Given the description of an element on the screen output the (x, y) to click on. 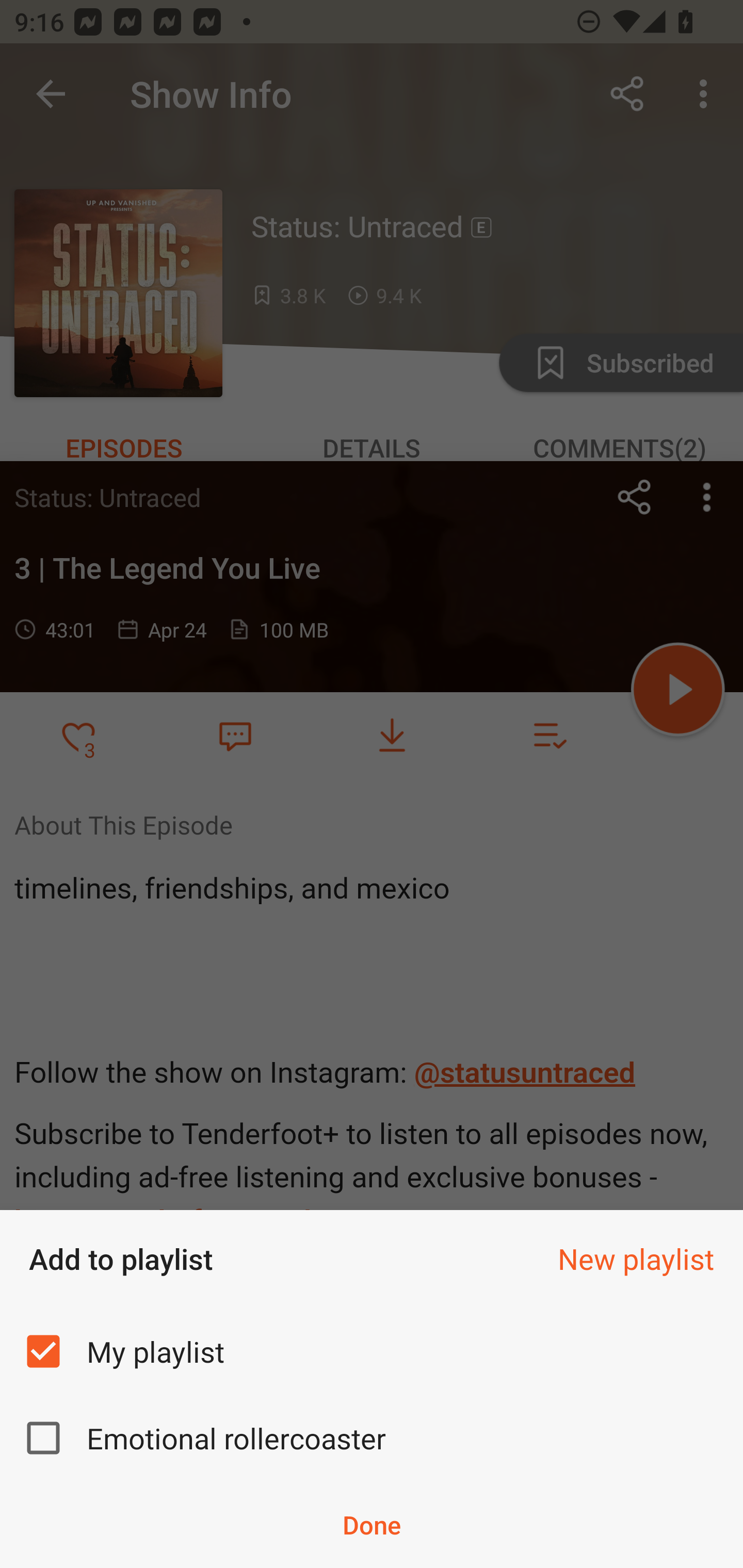
New playlist (636, 1258)
My playlist (371, 1350)
Emotional rollercoaster (371, 1437)
Done (371, 1524)
